Given the description of an element on the screen output the (x, y) to click on. 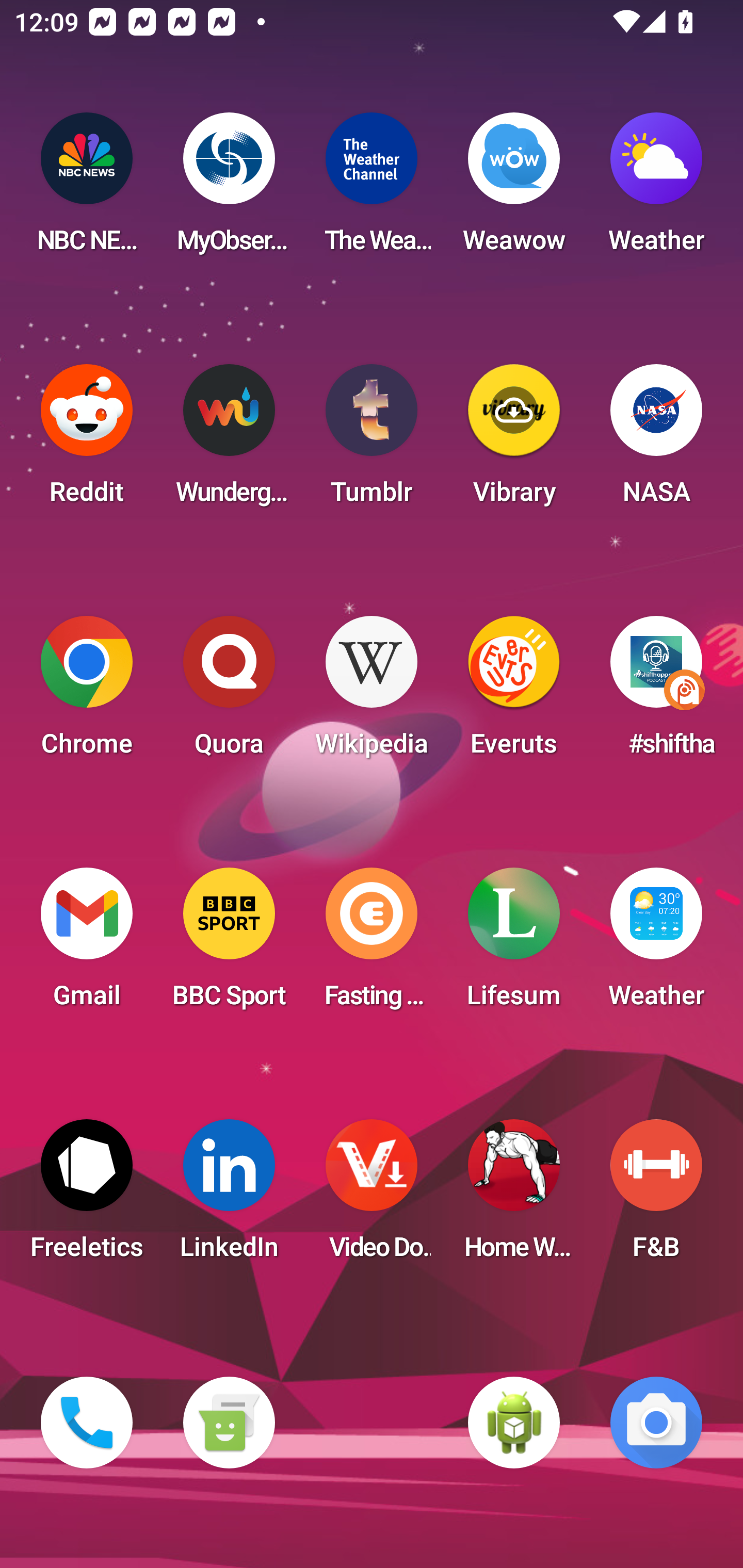
NBC NEWS (86, 188)
MyObservatory (228, 188)
The Weather Channel (371, 188)
Weawow (513, 188)
Weather (656, 188)
Reddit (86, 440)
Wunderground (228, 440)
Tumblr (371, 440)
Vibrary (513, 440)
NASA (656, 440)
Chrome (86, 692)
Quora (228, 692)
Wikipedia (371, 692)
Everuts (513, 692)
#shifthappens in the Digital Workplace Podcast (656, 692)
Gmail (86, 943)
BBC Sport (228, 943)
Fasting Coach (371, 943)
Lifesum (513, 943)
Weather (656, 943)
Freeletics (86, 1195)
LinkedIn (228, 1195)
Video Downloader & Ace Player (371, 1195)
Home Workout (513, 1195)
F&B (656, 1195)
Phone (86, 1422)
Messaging (228, 1422)
WebView Browser Tester (513, 1422)
Camera (656, 1422)
